Given the description of an element on the screen output the (x, y) to click on. 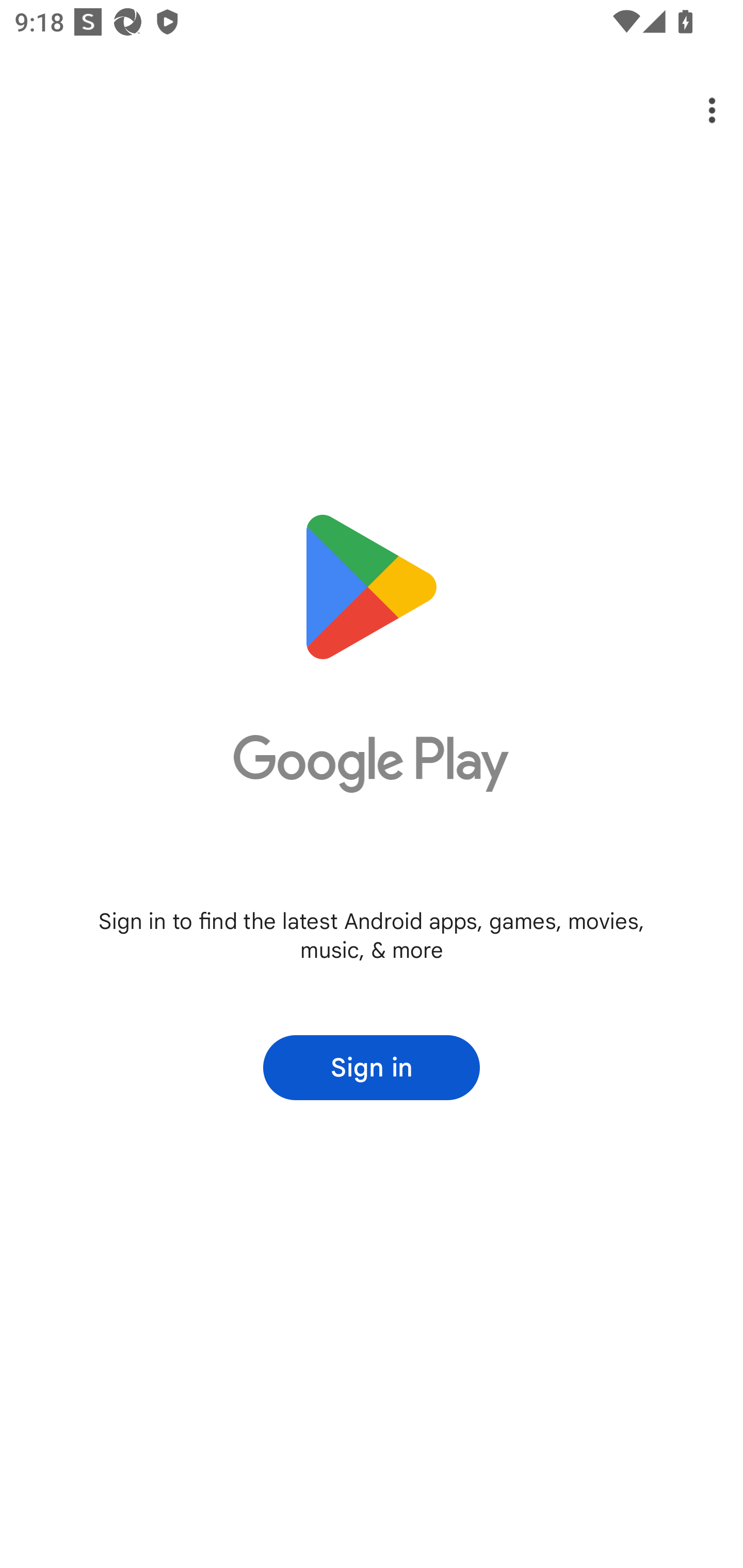
Options (697, 110)
Sign in (371, 1067)
